Given the description of an element on the screen output the (x, y) to click on. 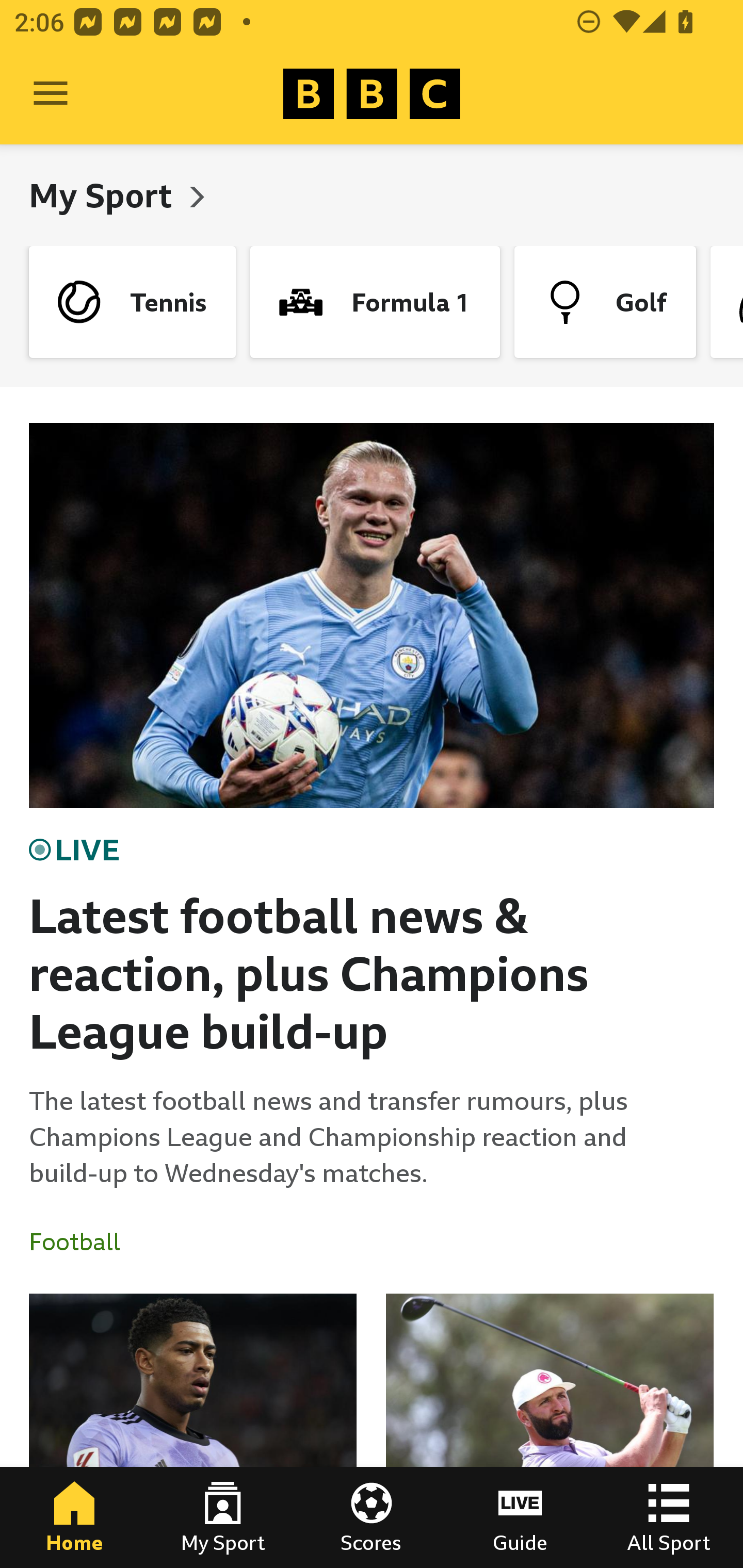
Open Menu (50, 93)
My Sport (104, 195)
Football In the section Football (81, 1241)
Real midfielder Bellingham banned for two games (192, 1430)
My Sport (222, 1517)
Scores (371, 1517)
Guide (519, 1517)
All Sport (668, 1517)
